Given the description of an element on the screen output the (x, y) to click on. 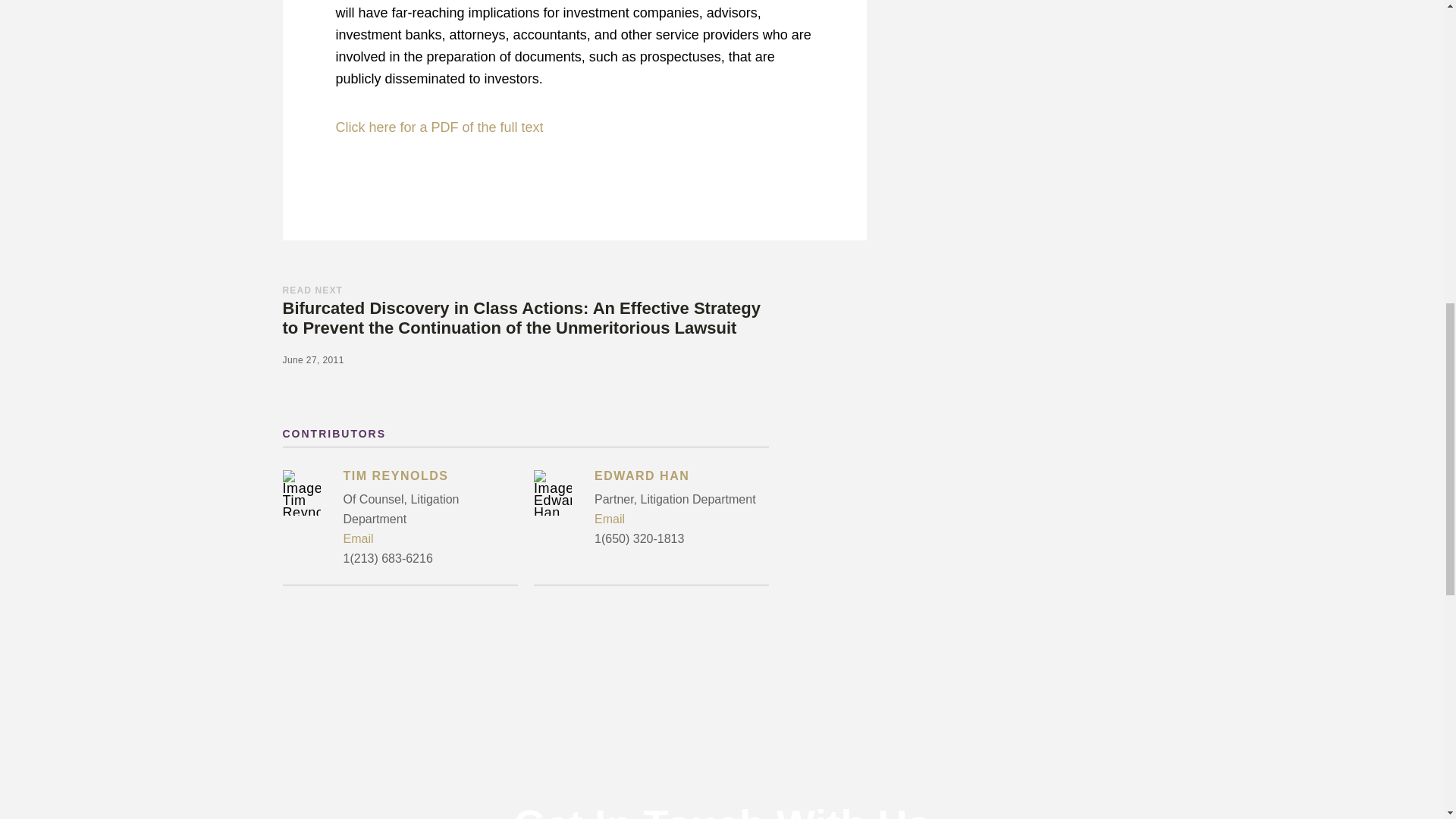
Email (429, 538)
Email (681, 519)
Click here for a PDF of the full text (438, 127)
TIM REYNOLDS (429, 478)
EDWARD HAN (681, 478)
